Given the description of an element on the screen output the (x, y) to click on. 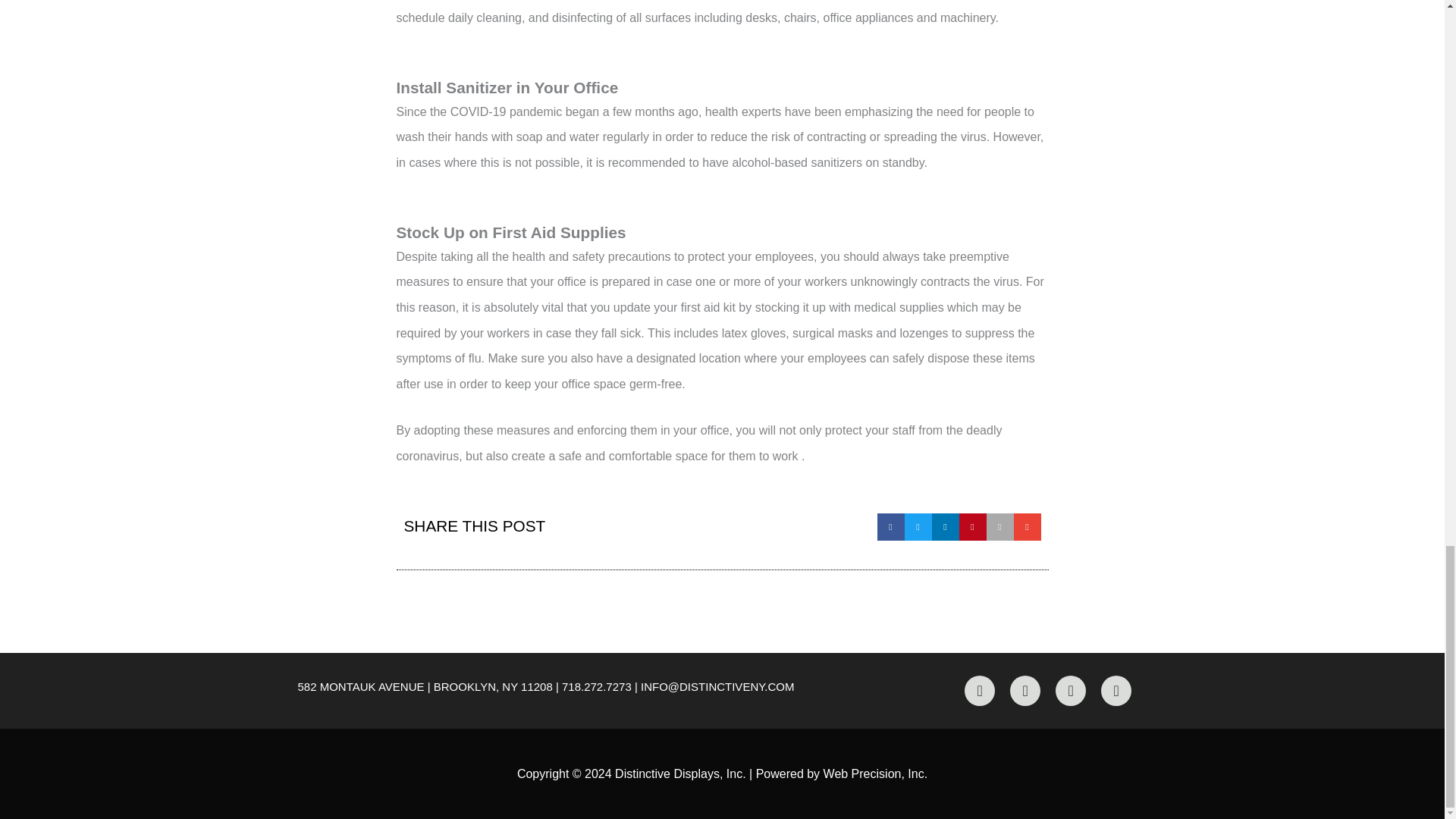
Instagram (1025, 690)
Facebook-f (978, 690)
718.272.7273 (596, 686)
Youtube (1115, 690)
Linkedin-in (1070, 690)
Web Precision, Inc. (876, 773)
